Given the description of an element on the screen output the (x, y) to click on. 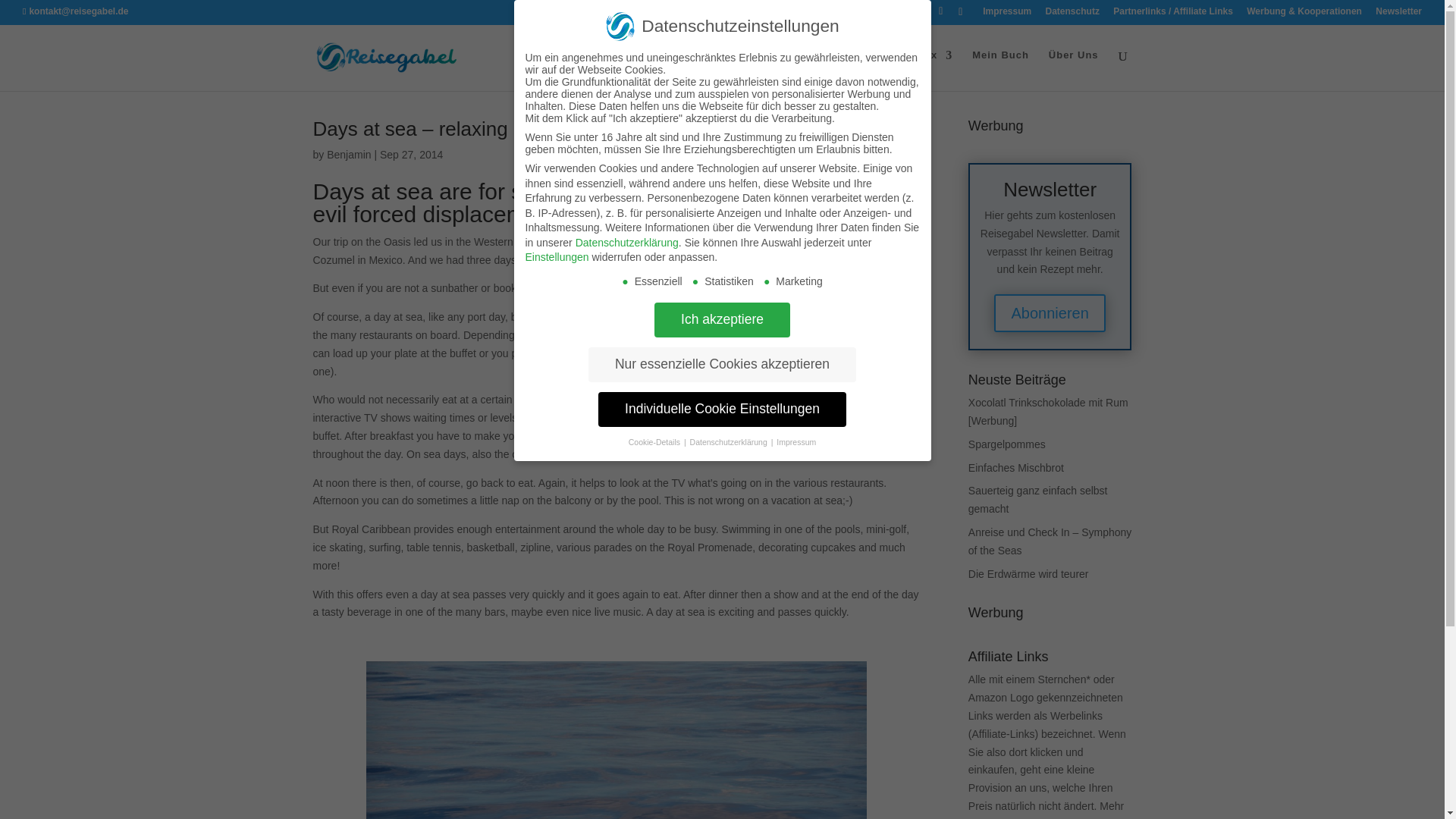
Posts by Benjamin (348, 154)
Startseite (861, 67)
Newsletter (1398, 14)
Datenschutz (1072, 14)
Impressum (1006, 14)
Index (929, 67)
